Given the description of an element on the screen output the (x, y) to click on. 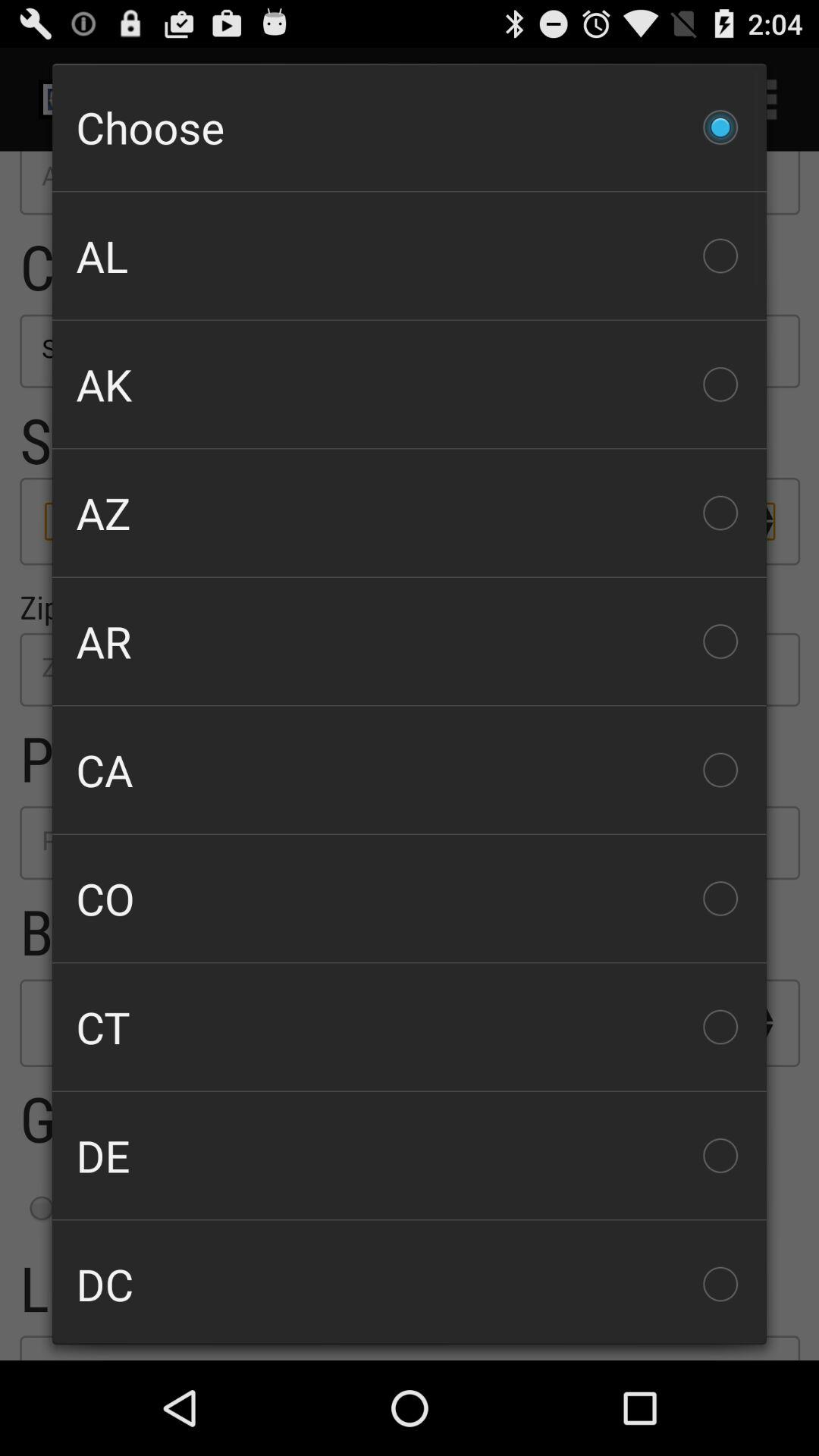
flip until the ar item (409, 641)
